Given the description of an element on the screen output the (x, y) to click on. 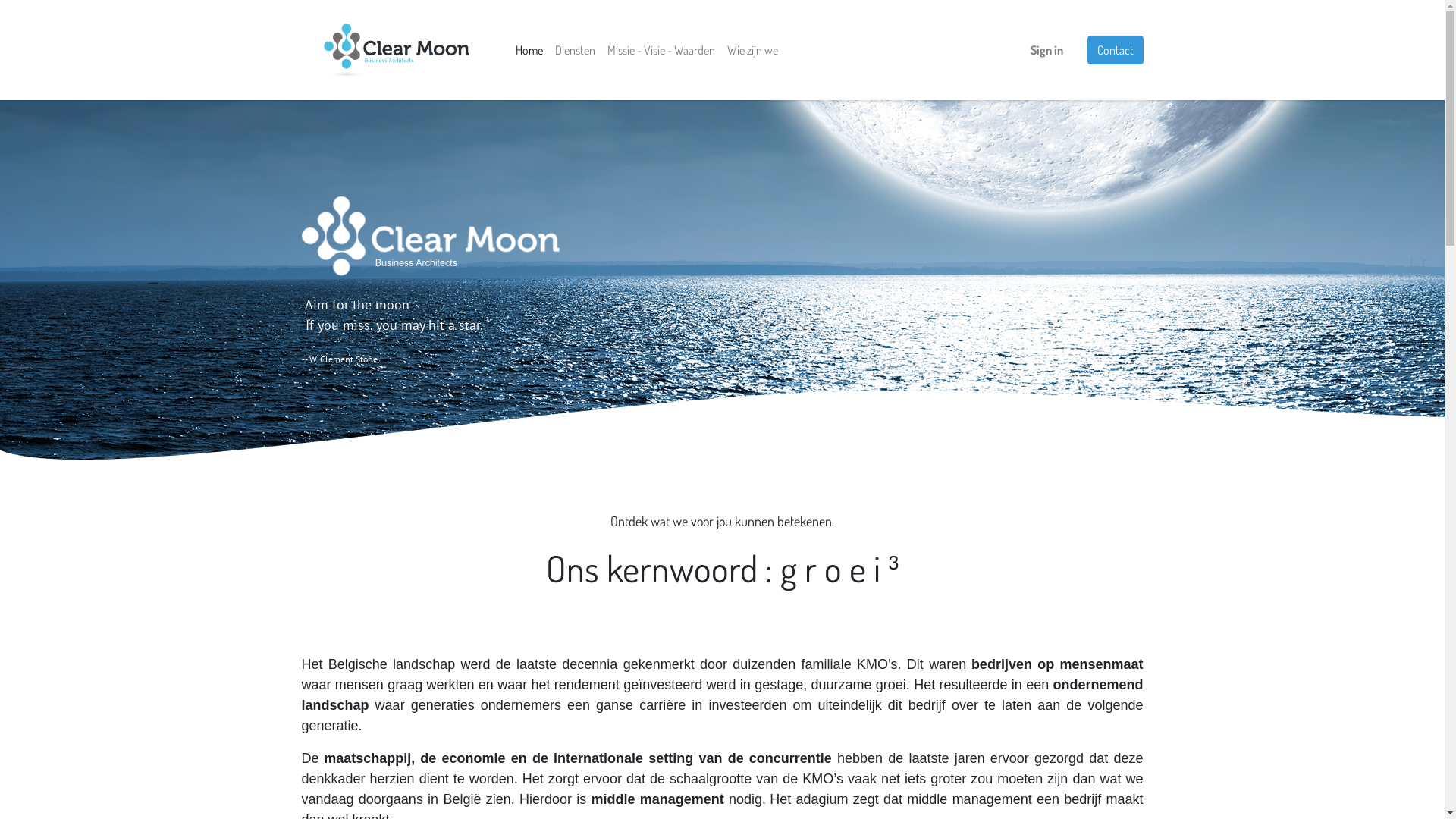
Wie zijn we Element type: text (752, 49)
Sign in Element type: text (1045, 49)
Clear Moon Element type: hover (396, 49)
Home Element type: text (529, 49)
Contact Element type: text (1115, 49)
Diensten Element type: text (575, 49)
Missie - Visie - Waarden Element type: text (661, 49)
